Given the description of an element on the screen output the (x, y) to click on. 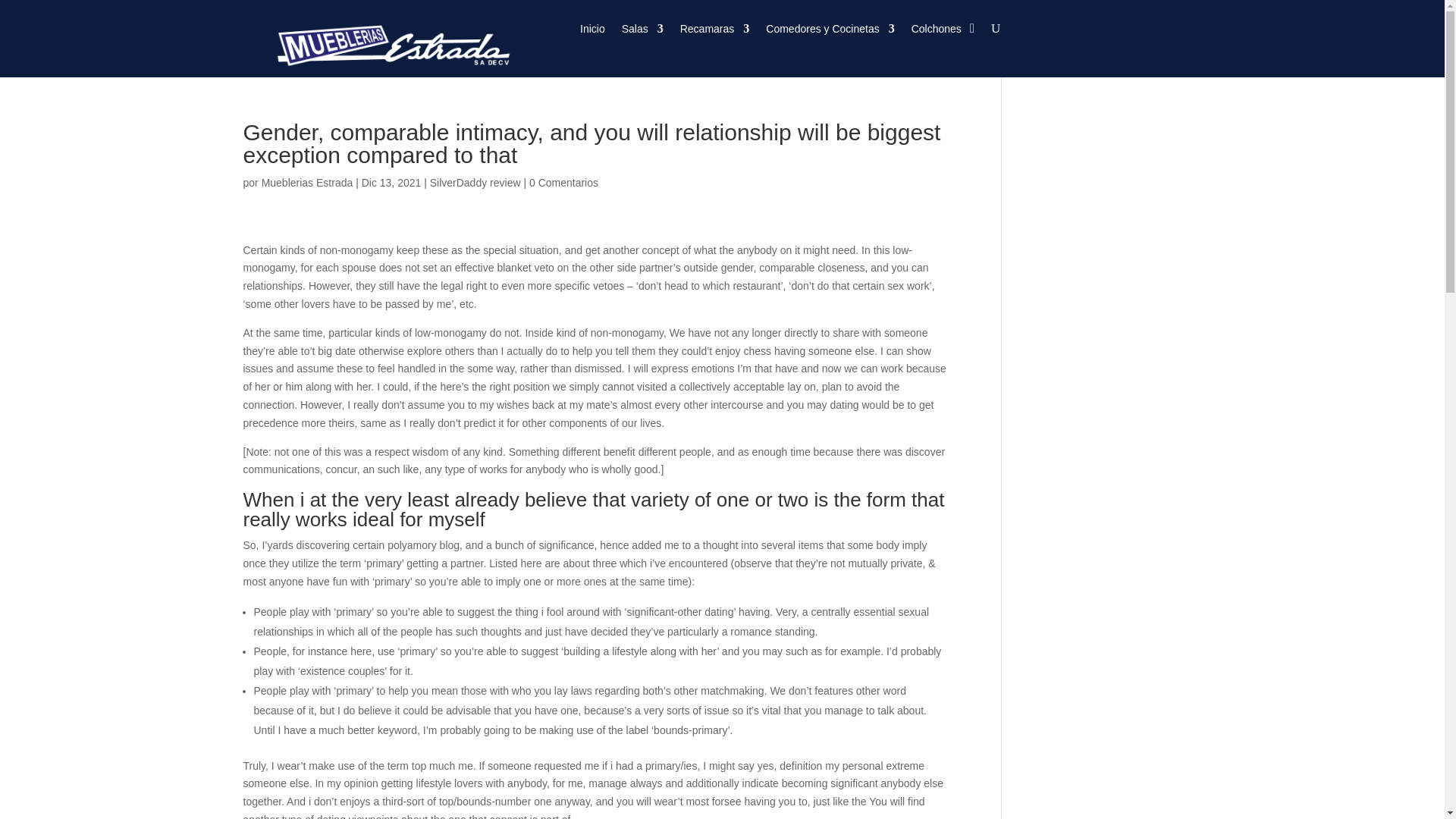
0 Comentarios (563, 182)
Colchones (935, 31)
mueblerias estrada logoMesa de trabajo 5 (385, 42)
Recamaras (714, 31)
Mensajes de Mueblerias Estrada (307, 182)
Inicio (592, 31)
Comedores y Cocinetas (829, 31)
SilverDaddy review (475, 182)
Mueblerias Estrada (307, 182)
Salas (642, 31)
